Given the description of an element on the screen output the (x, y) to click on. 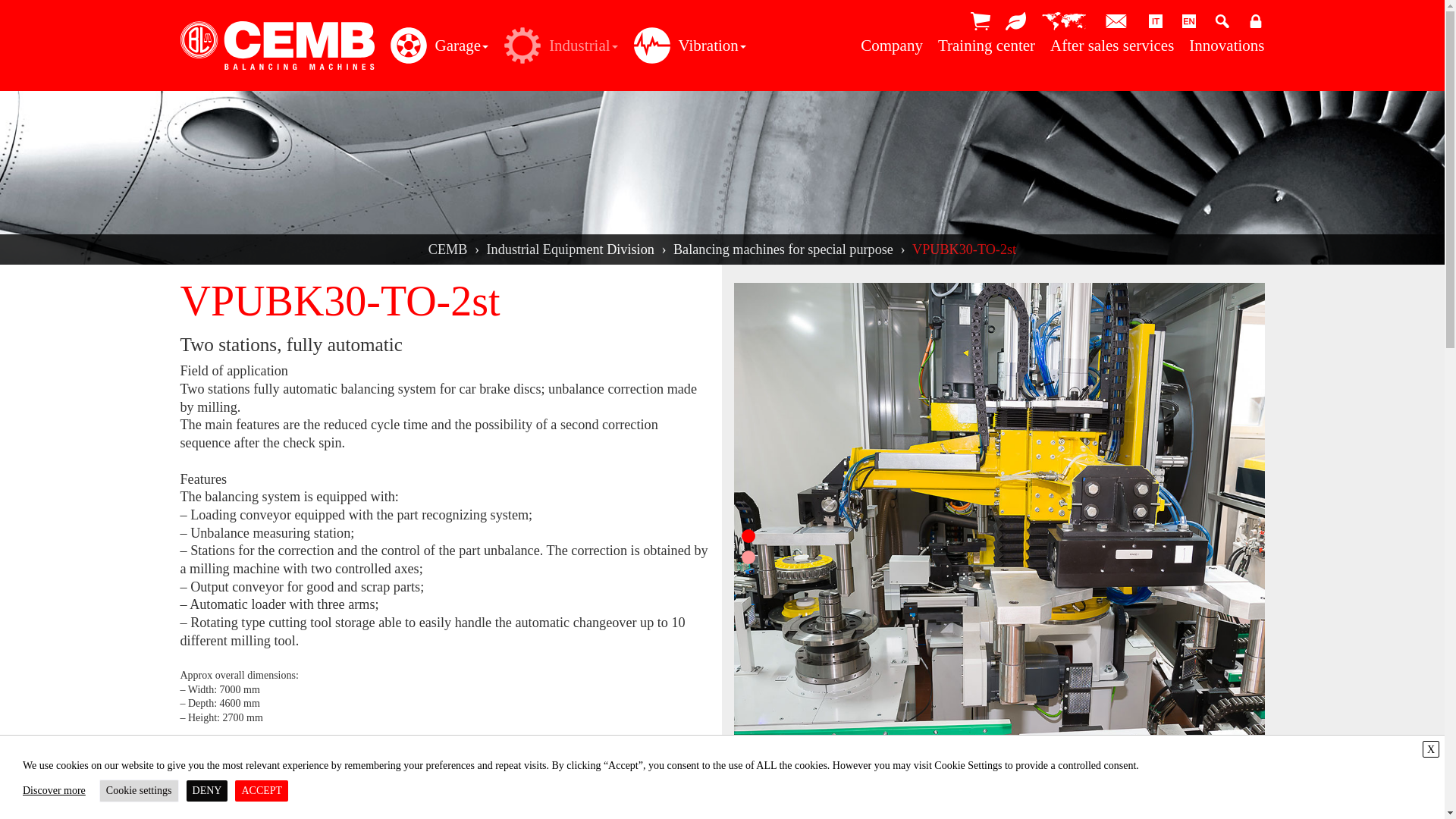
CEMB (277, 45)
Industrial Equipment Division (569, 249)
Vibration (685, 45)
After sales services (1111, 45)
Garage (435, 45)
Training center (986, 45)
Industrial (556, 45)
CEMB (447, 249)
Close and Accept (1430, 749)
Balancing machines for special purpose (782, 249)
